Given the description of an element on the screen output the (x, y) to click on. 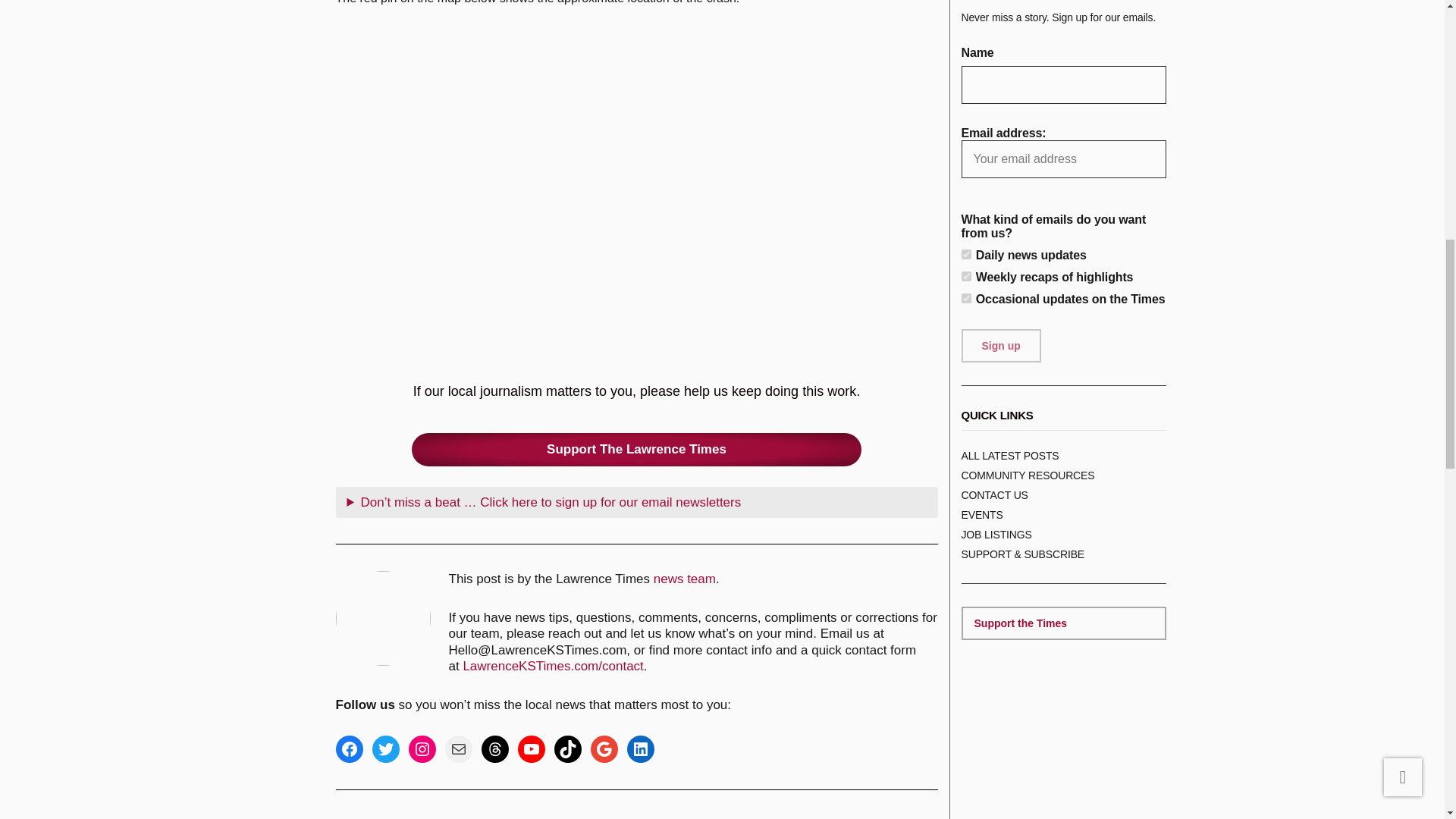
77e972c902 (965, 276)
Sign up (1000, 345)
3692fadf75 (965, 297)
093199c2e9 (965, 253)
